Given the description of an element on the screen output the (x, y) to click on. 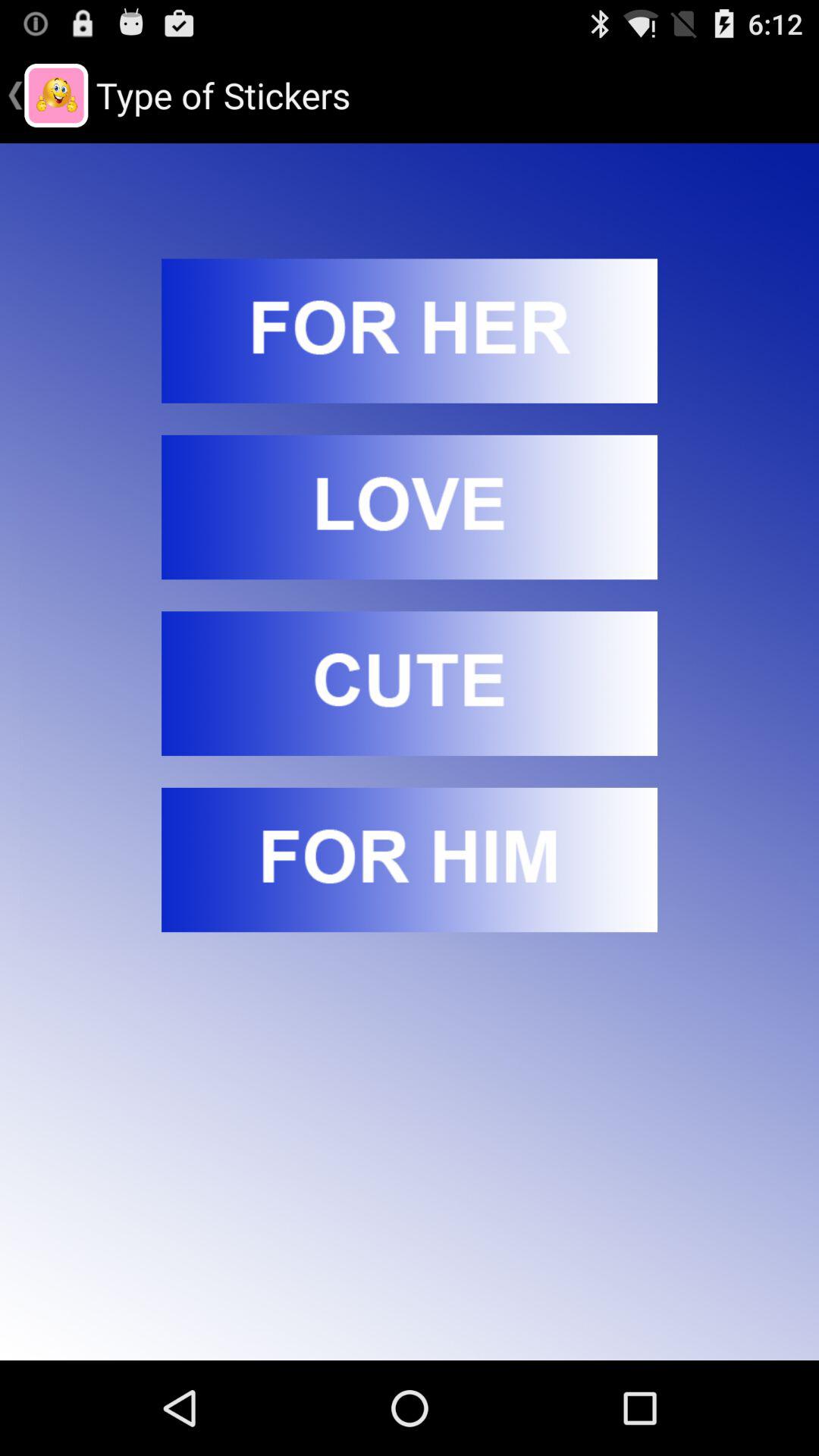
open link (409, 330)
